Given the description of an element on the screen output the (x, y) to click on. 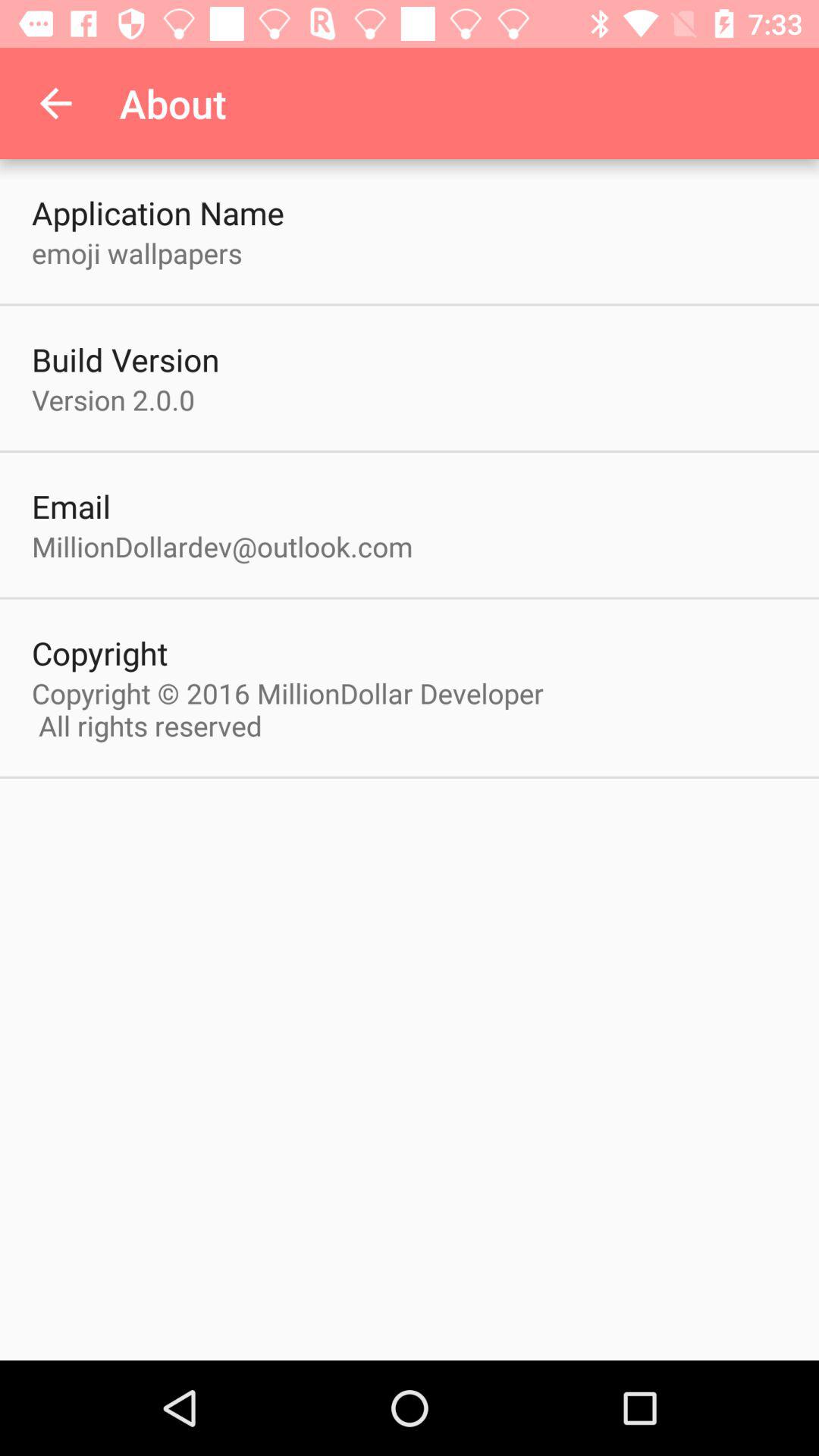
jump to the email item (70, 505)
